Given the description of an element on the screen output the (x, y) to click on. 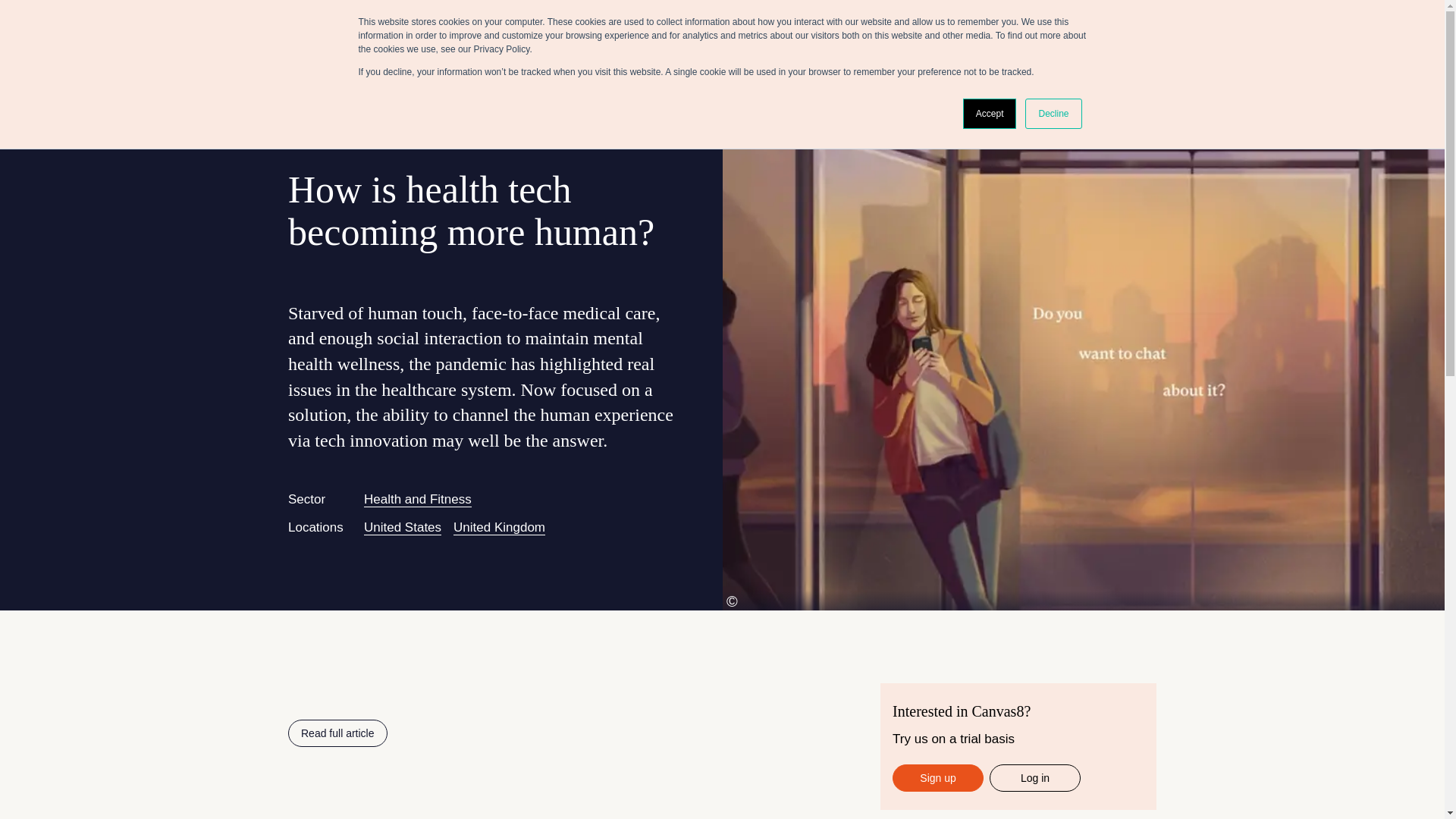
Accept (989, 113)
Clients (1045, 26)
United Kingdom (498, 527)
Decline (1053, 113)
Read full article (337, 732)
Resources (1150, 26)
Demo (1233, 25)
United States (402, 527)
Sign up (938, 777)
Services (991, 26)
